Given the description of an element on the screen output the (x, y) to click on. 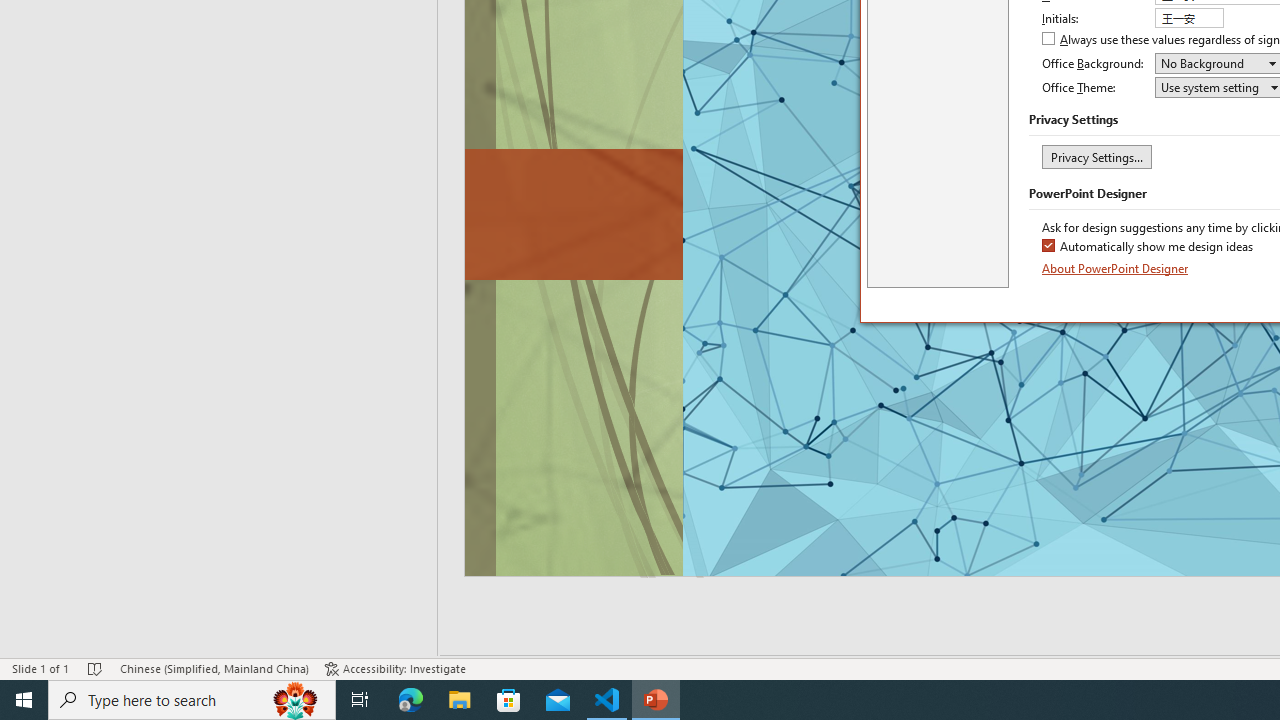
Visual Studio Code - 1 running window (607, 699)
Accessibility Checker Accessibility: Investigate (395, 668)
Spell Check No Errors (95, 668)
Microsoft Edge (411, 699)
Start (24, 699)
PowerPoint - 1 running window (656, 699)
Microsoft Store (509, 699)
About PowerPoint Designer (1116, 268)
Search highlights icon opens search home window (295, 699)
Task View (359, 699)
Initials (1188, 17)
Automatically show me design ideas (1148, 247)
File Explorer (460, 699)
Type here to search (191, 699)
